Given the description of an element on the screen output the (x, y) to click on. 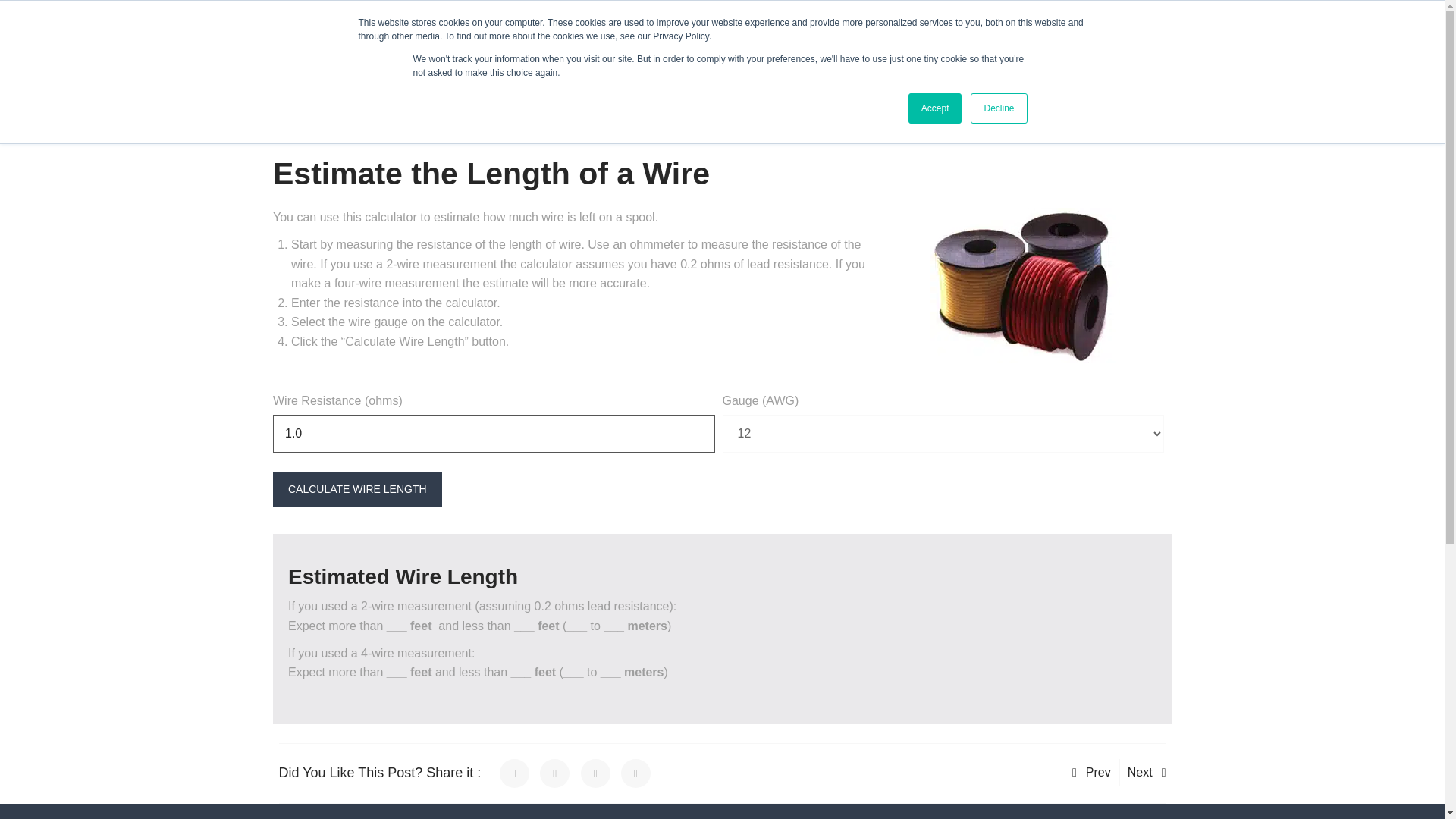
About Us (301, 19)
Testers (622, 154)
Accessories (633, 197)
Decline (998, 108)
Learning Center (621, 88)
Events (369, 19)
Accept (935, 108)
Products (527, 88)
1.0 (493, 433)
Software (627, 282)
General Testing (718, 154)
Calibration (821, 239)
Product Articles (719, 239)
Service Repair (828, 197)
Custom Solutions (646, 324)
